Given the description of an element on the screen output the (x, y) to click on. 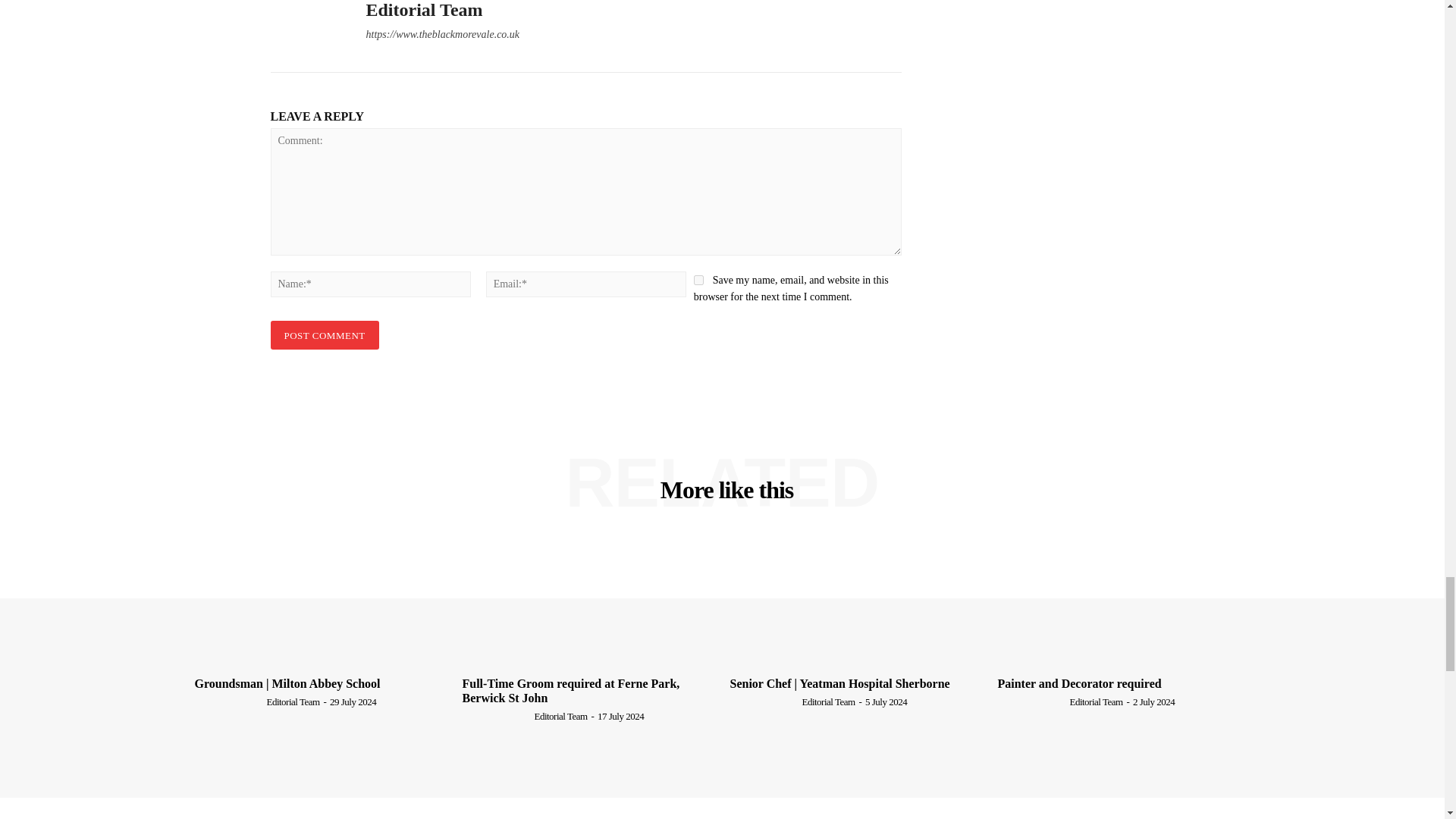
yes (698, 280)
Editorial team (305, 28)
Post Comment (323, 335)
